Given the description of an element on the screen output the (x, y) to click on. 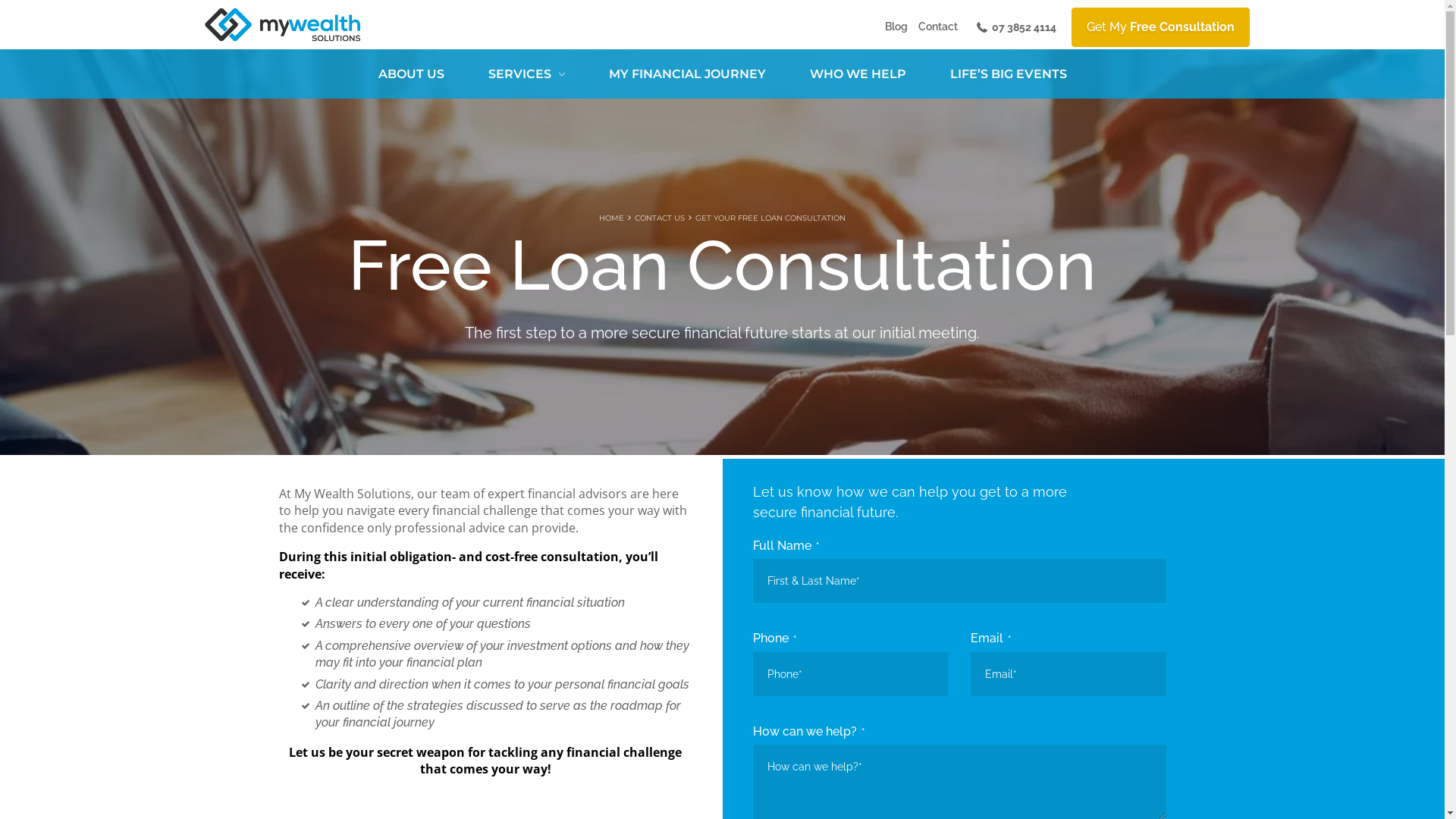
ABOUT US Element type: text (410, 73)
Get My Free Consultation Element type: text (1159, 27)
07 3852 4114 Element type: text (1012, 27)
HOME Element type: text (611, 217)
Contact Element type: text (937, 26)
CONTACT US Element type: text (659, 217)
SERVICES Element type: text (525, 73)
WHO WE HELP Element type: text (856, 73)
Blog Element type: text (896, 26)
My Wealth Solutions Element type: hover (282, 24)
MY FINANCIAL JOURNEY Element type: text (687, 73)
